Given the description of an element on the screen output the (x, y) to click on. 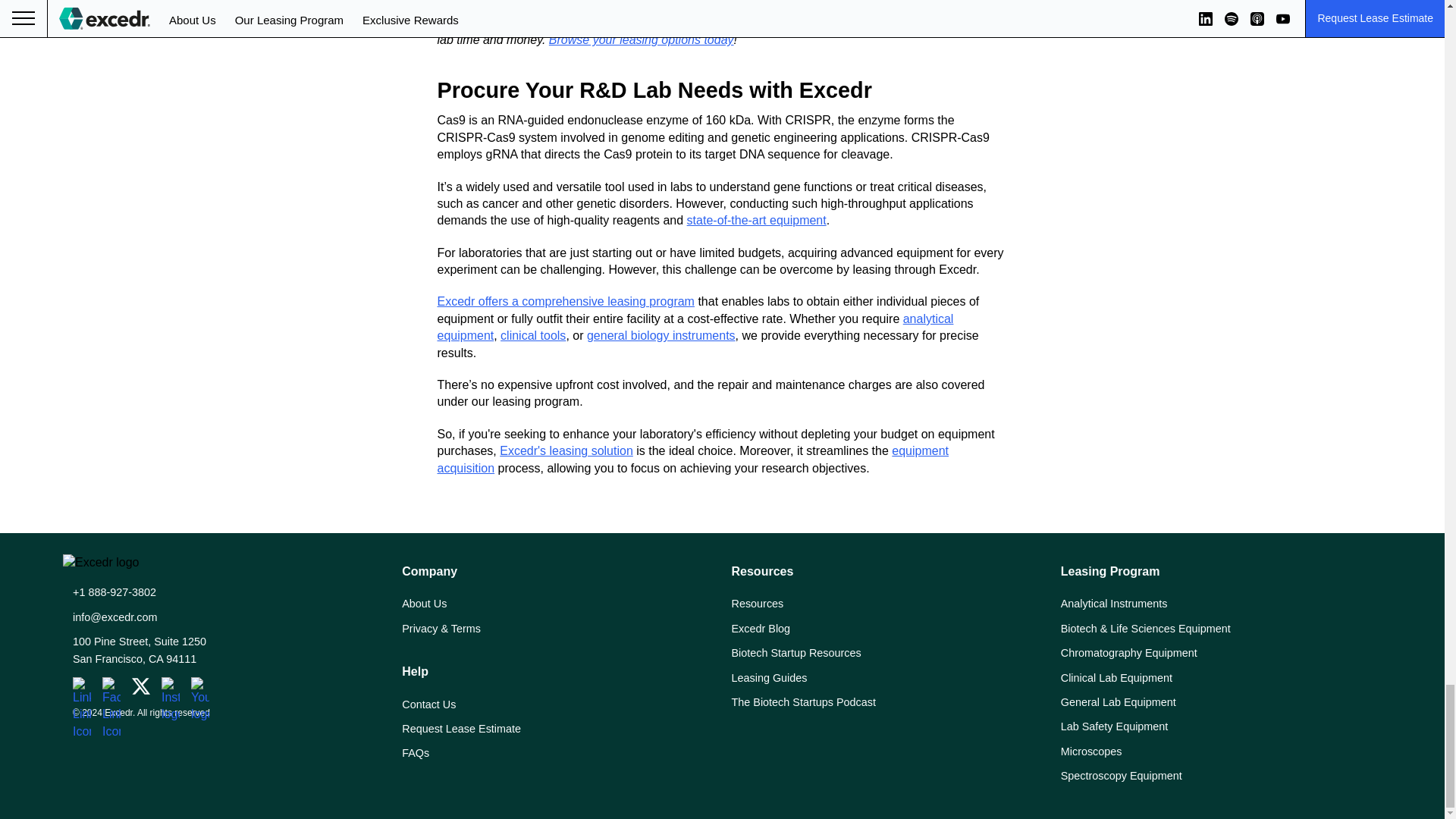
X (140, 686)
